Given the description of an element on the screen output the (x, y) to click on. 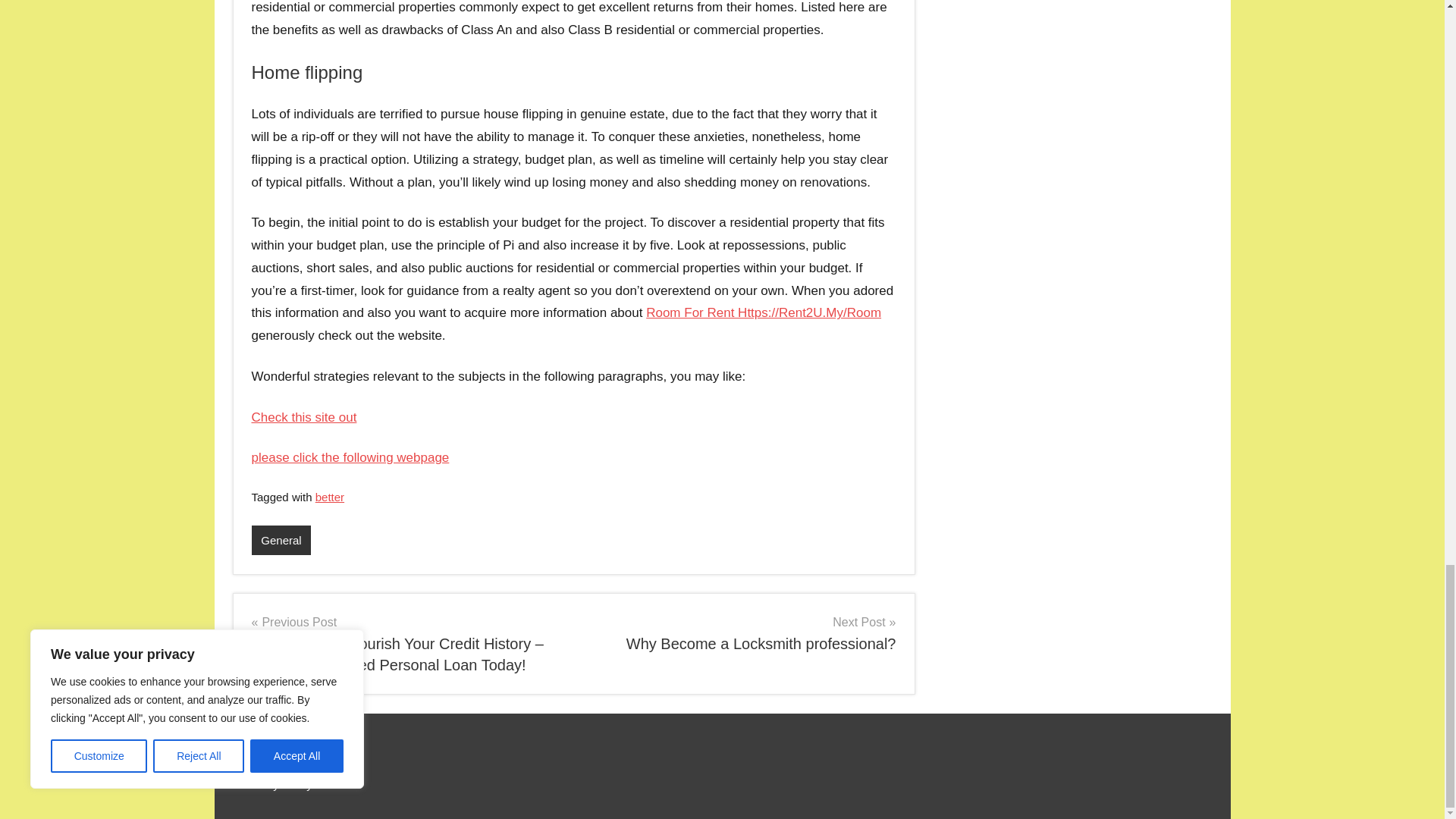
General (281, 540)
better (329, 496)
please click the following webpage (350, 457)
Check this site out (740, 632)
